Given the description of an element on the screen output the (x, y) to click on. 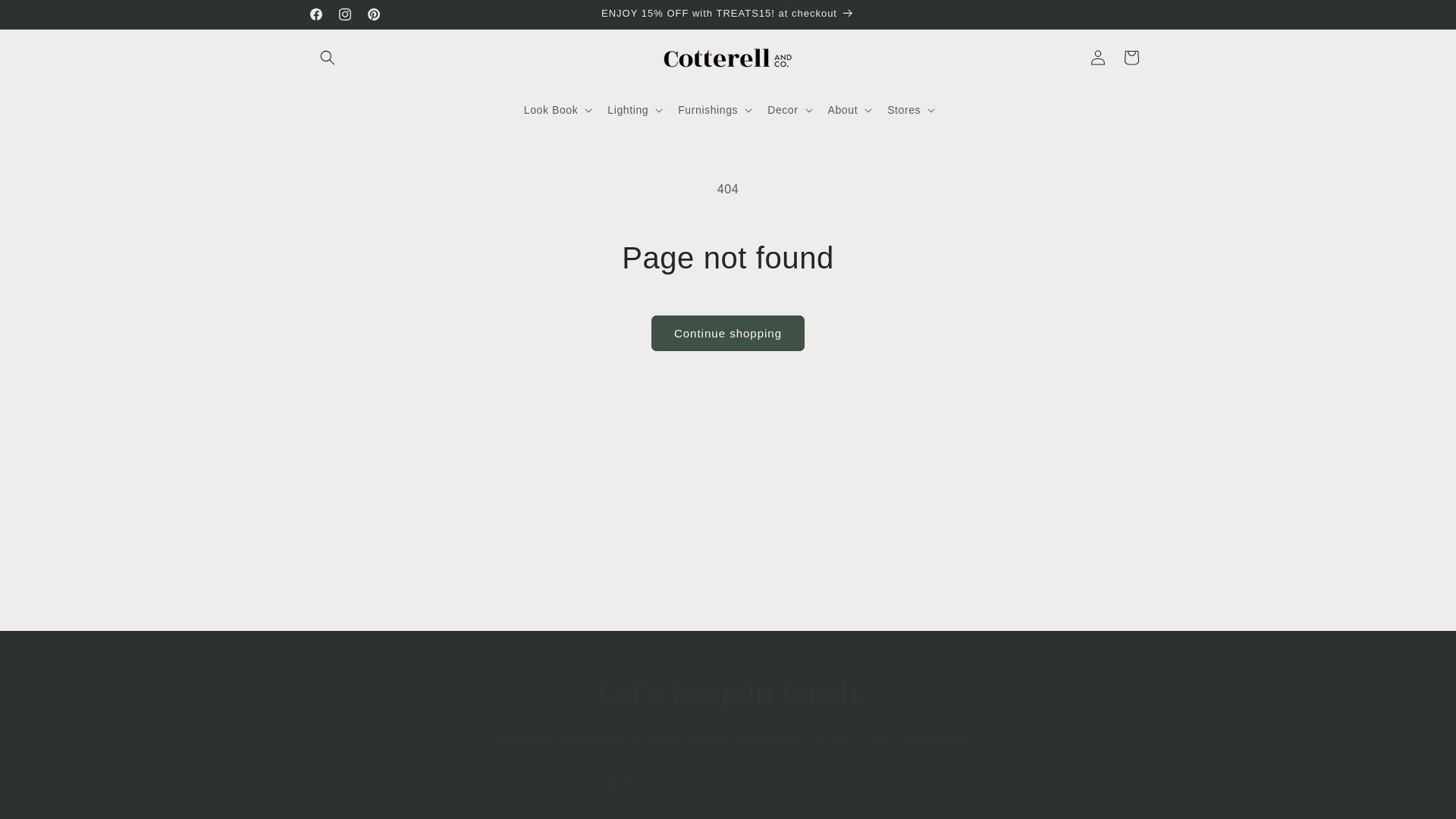
Skip to content (45, 17)
Email (727, 782)
Pinterest (373, 14)
Instagram (344, 14)
Facebook (315, 14)
Let's keep in touch (727, 692)
